Given the description of an element on the screen output the (x, y) to click on. 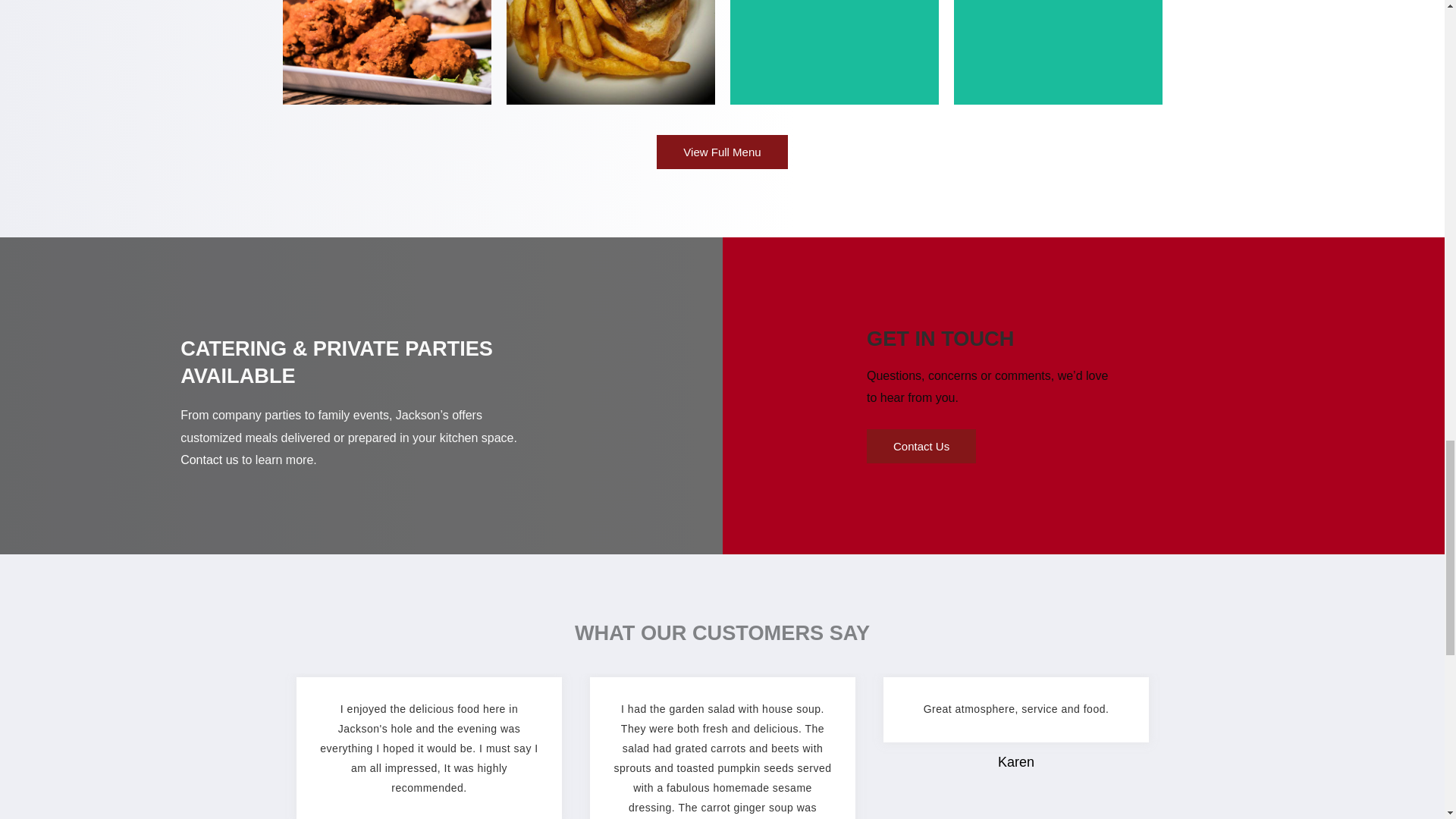
Contact Us (920, 446)
View Full Menu (721, 151)
Contact us (209, 459)
